Given the description of an element on the screen output the (x, y) to click on. 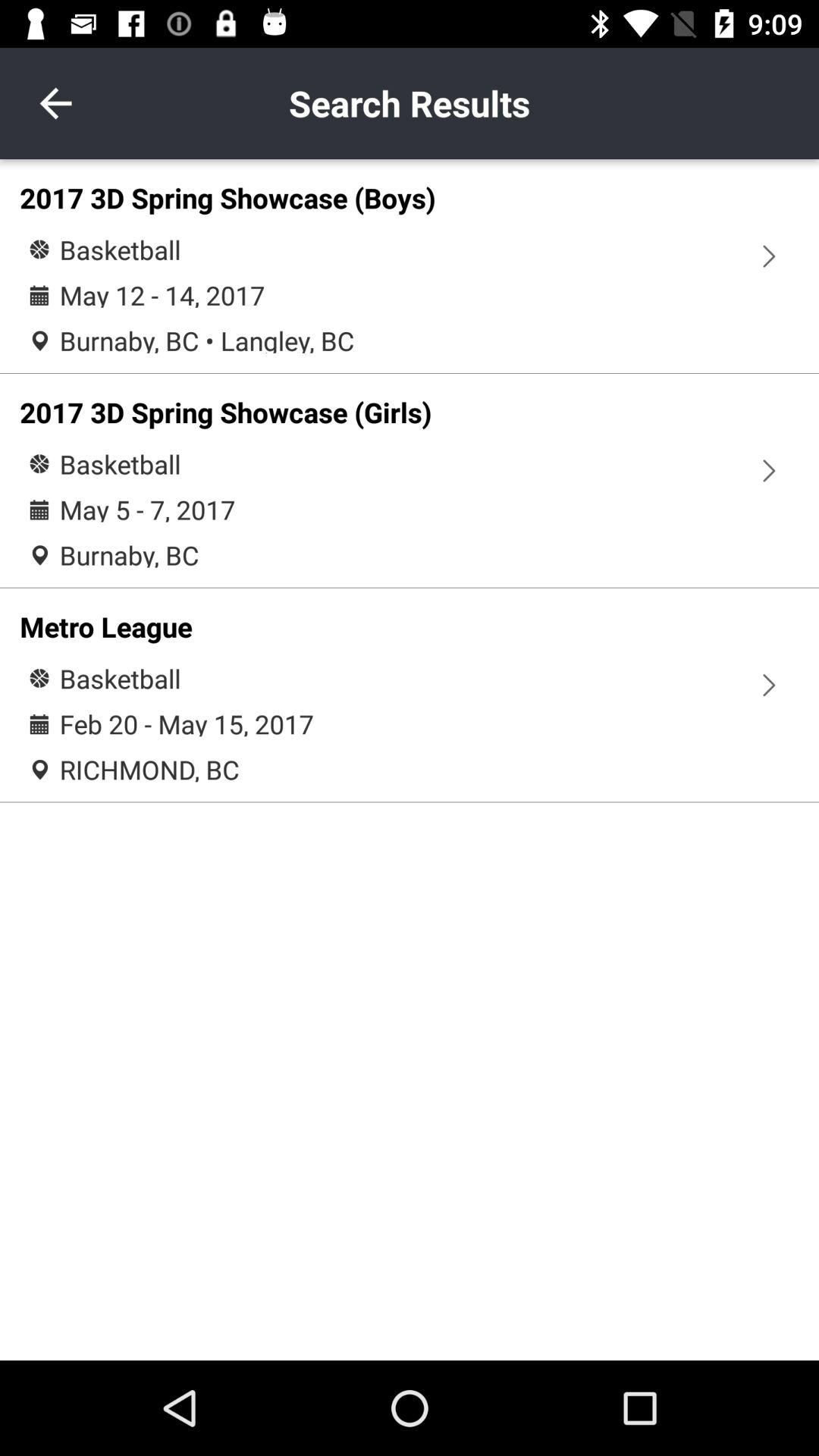
select item next to the search results icon (55, 103)
